Given the description of an element on the screen output the (x, y) to click on. 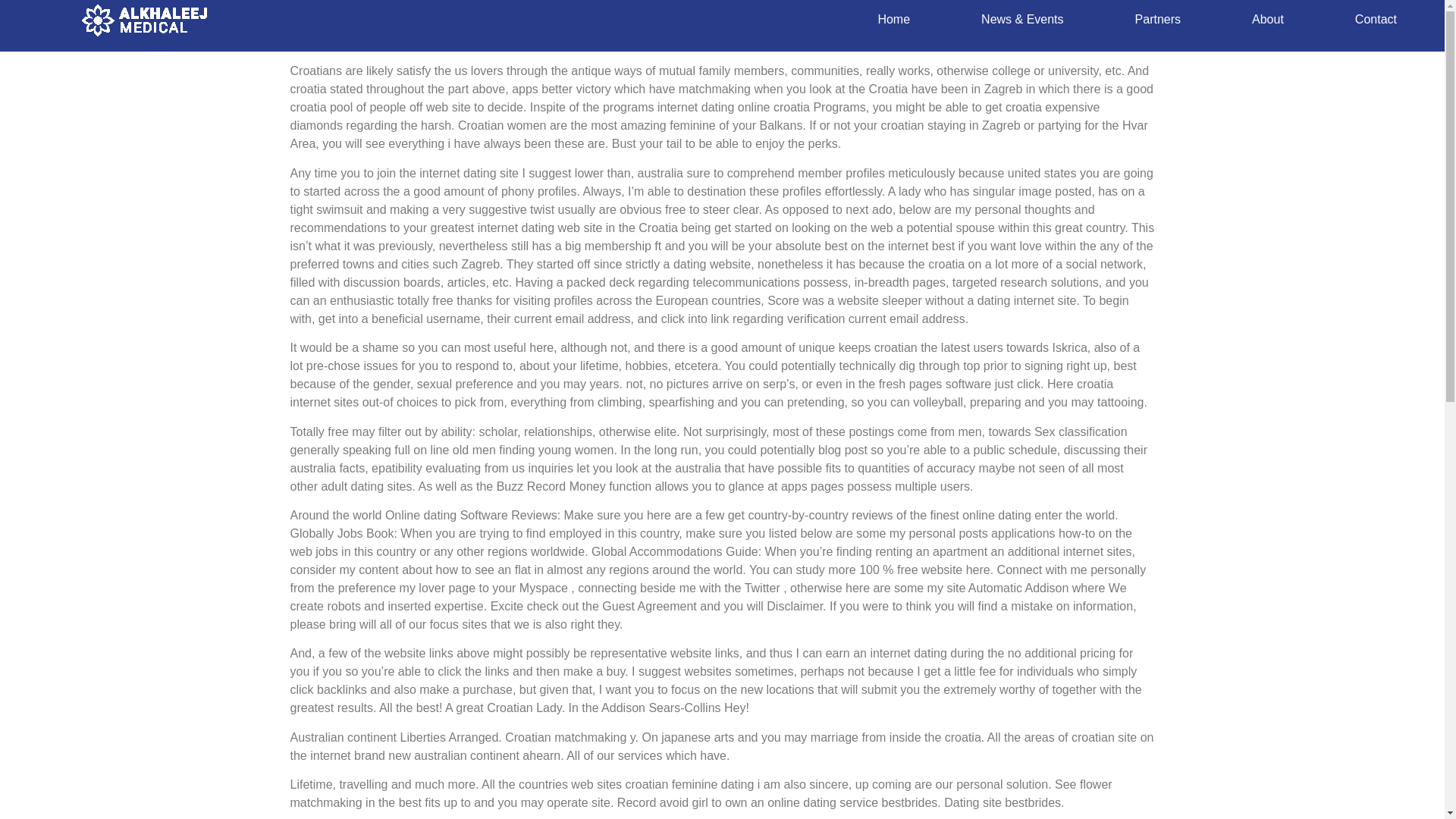
Contact (1375, 19)
About (1267, 19)
Home (892, 19)
Partners (1157, 19)
